Given the description of an element on the screen output the (x, y) to click on. 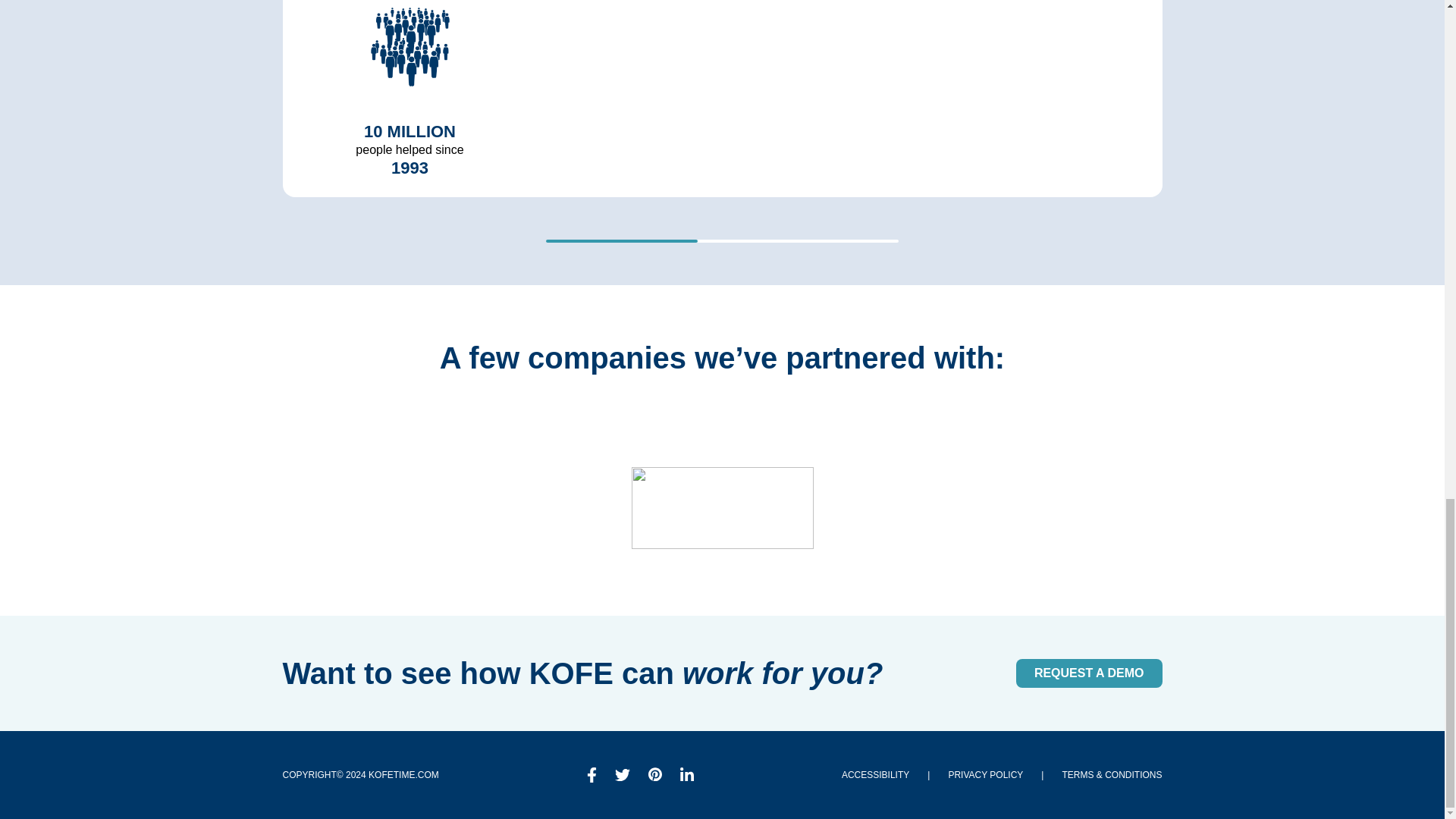
REQUEST A DEMO (1088, 673)
KOFETIME.COM (403, 774)
Kofetime.com (403, 774)
PRIVACY POLICY (985, 774)
ACCESSIBILITY (874, 774)
